Given the description of an element on the screen output the (x, y) to click on. 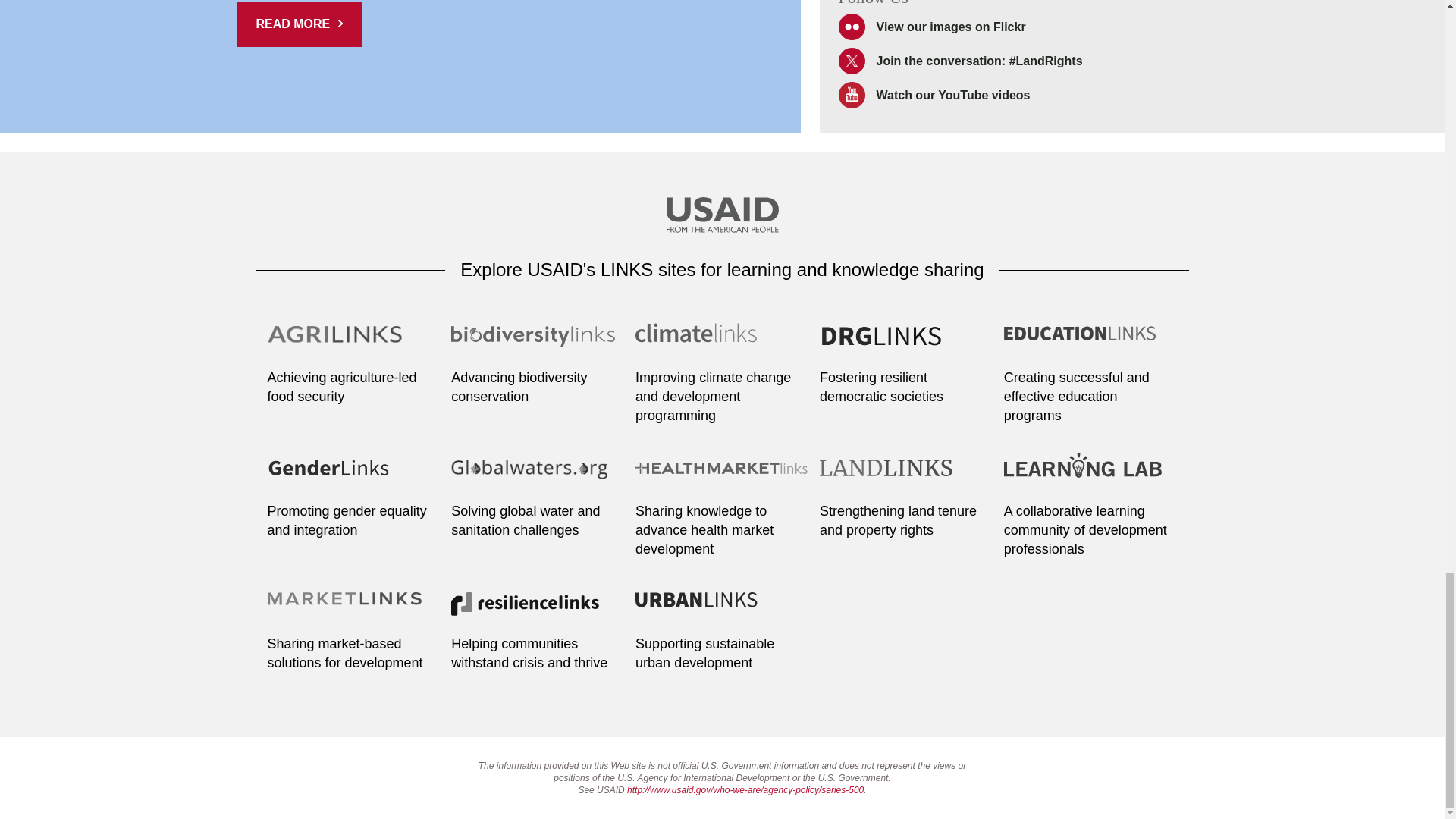
Go to Climatelinks (721, 343)
Go to Genderlinks (353, 476)
Go to Resiliencelinks (537, 609)
Go to MarketLinks (353, 609)
Go to Landlinks (905, 476)
Go to Globalwaters (537, 476)
Go to Healthmarket Links (721, 476)
Go to Agrilinks (353, 343)
Go to Biodiversitylinks (537, 343)
Go to Educationlinks (1090, 343)
Go to DRG (905, 343)
Go to LearningLab (1090, 476)
Go to USAID (721, 216)
